Given the description of an element on the screen output the (x, y) to click on. 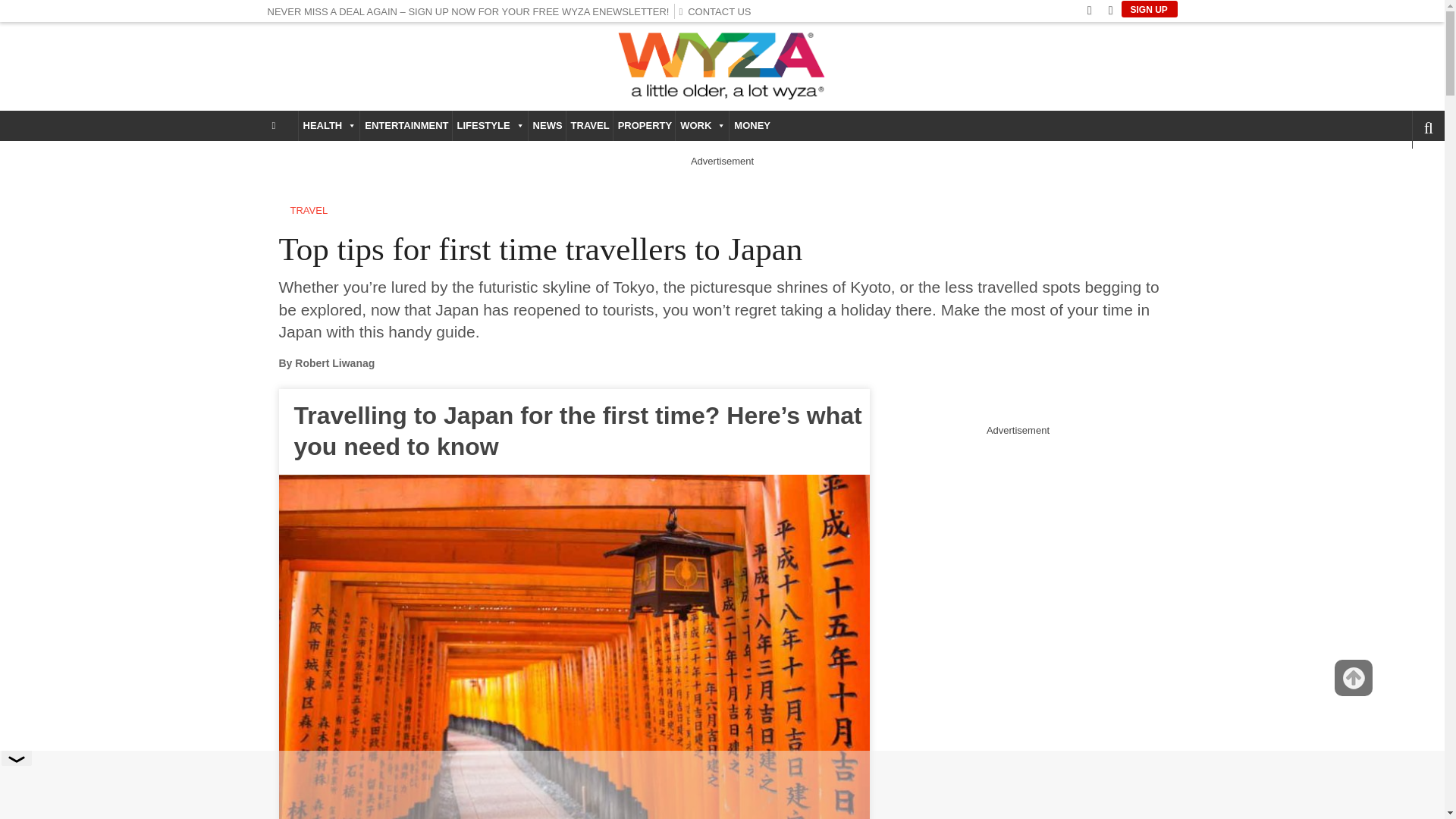
LIFESTYLE (489, 125)
PROPERTY (643, 125)
TRAVEL (589, 125)
CONTACT US (718, 11)
ENTERTAINMENT (405, 125)
SIGN UP (1148, 8)
NEWS (547, 125)
MONEY (751, 125)
Search (1402, 170)
HEALTH (328, 125)
WORK (702, 125)
